Given the description of an element on the screen output the (x, y) to click on. 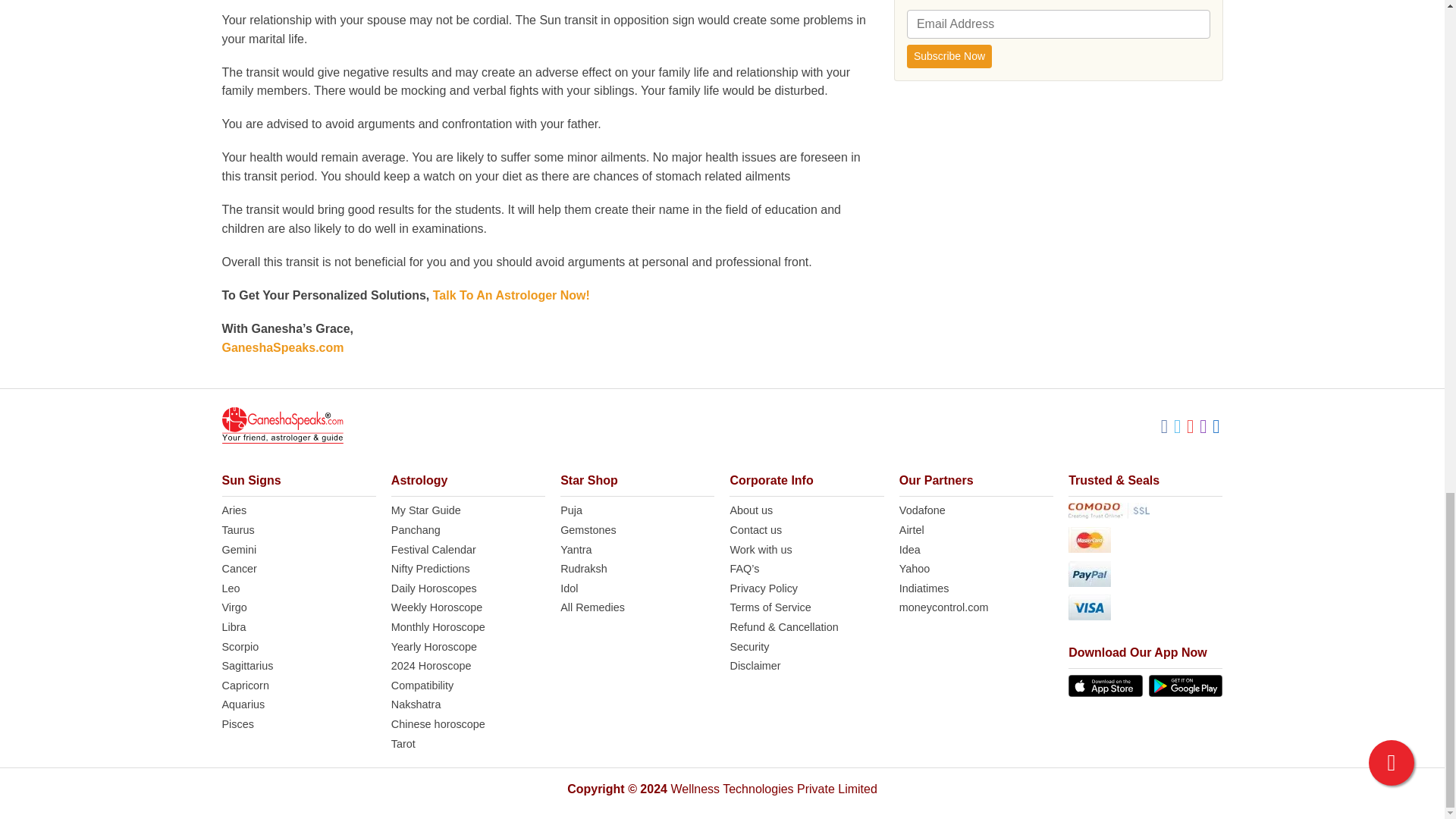
Sagittarius (298, 666)
Gemini (298, 550)
Virgo (298, 607)
Cancer (298, 569)
Taurus (298, 530)
Ganeshaspeaks (281, 425)
Aries (298, 510)
Libra (298, 627)
Aquarius (298, 704)
Leo (298, 588)
Capricorn (298, 686)
Scorpio (298, 647)
